Given the description of an element on the screen output the (x, y) to click on. 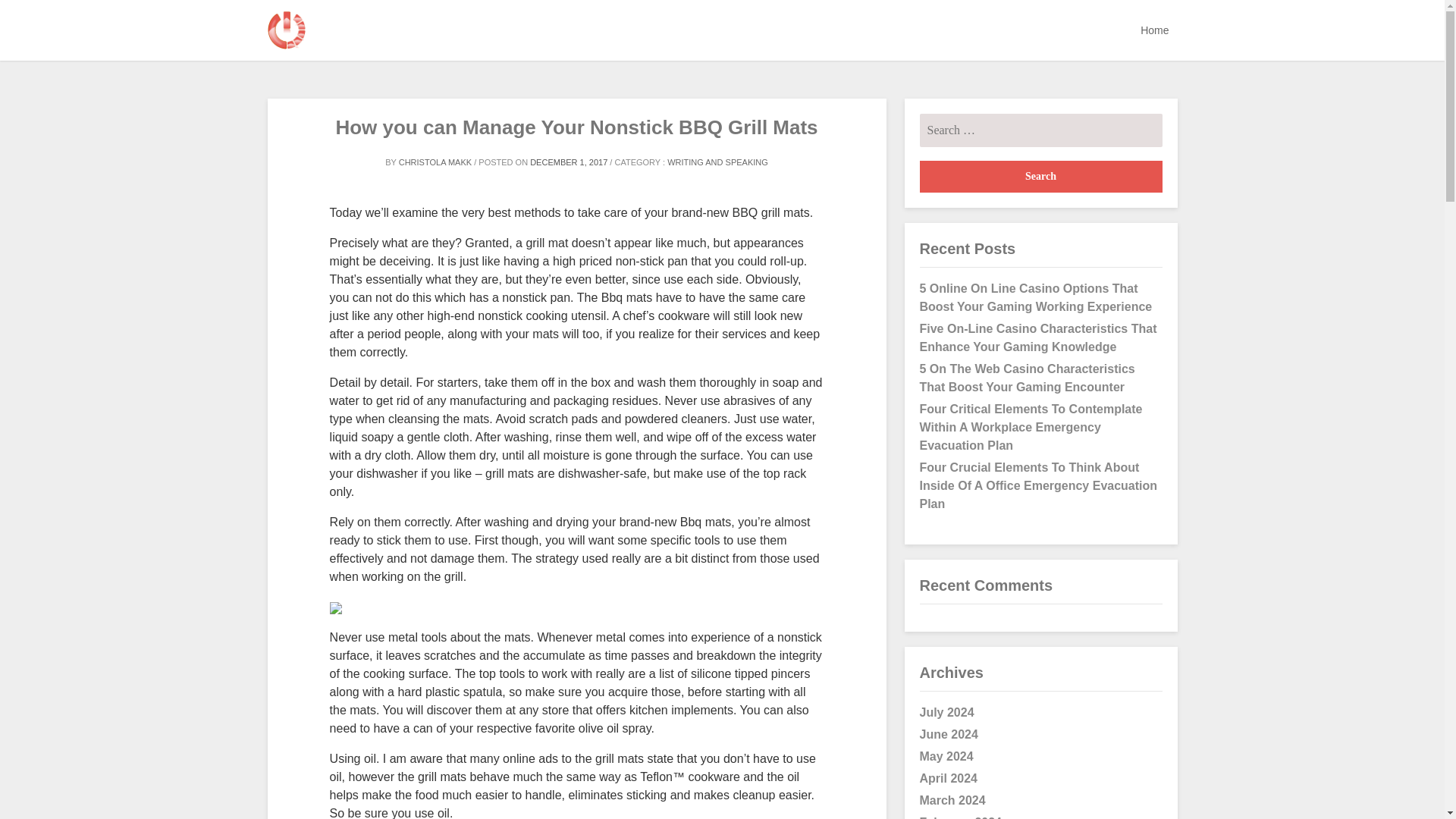
Search (1039, 176)
May 2024 (945, 756)
April 2024 (947, 778)
Search (1039, 176)
DECEMBER 1, 2017 (568, 162)
Home (1154, 30)
CHRISTOLA MAKK (434, 162)
Posts by Christola Makk (434, 162)
July 2024 (946, 712)
Search (1039, 176)
